Given the description of an element on the screen output the (x, y) to click on. 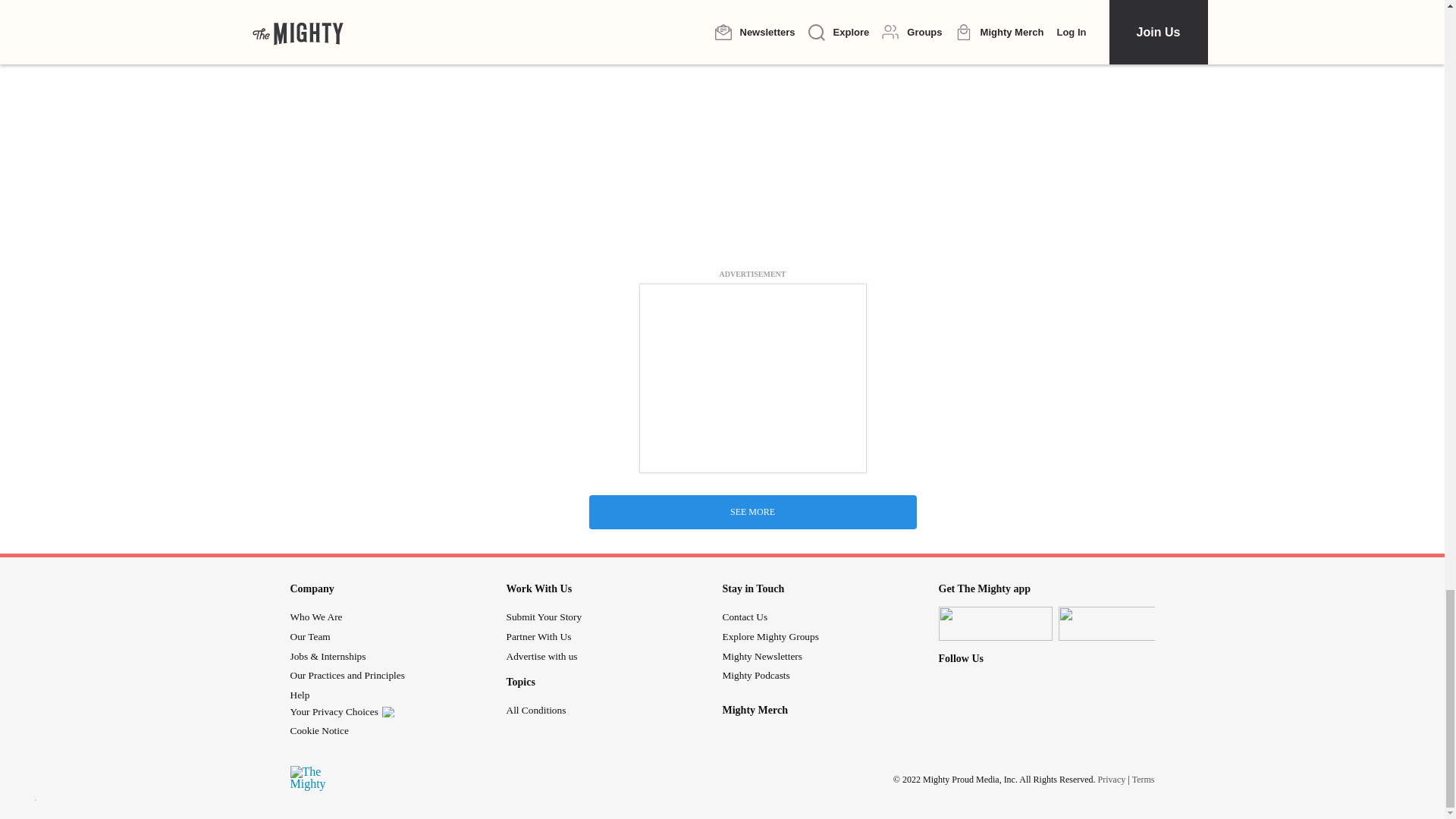
Our Team (309, 636)
SEE MORE (751, 512)
Who We Are (315, 616)
